Given the description of an element on the screen output the (x, y) to click on. 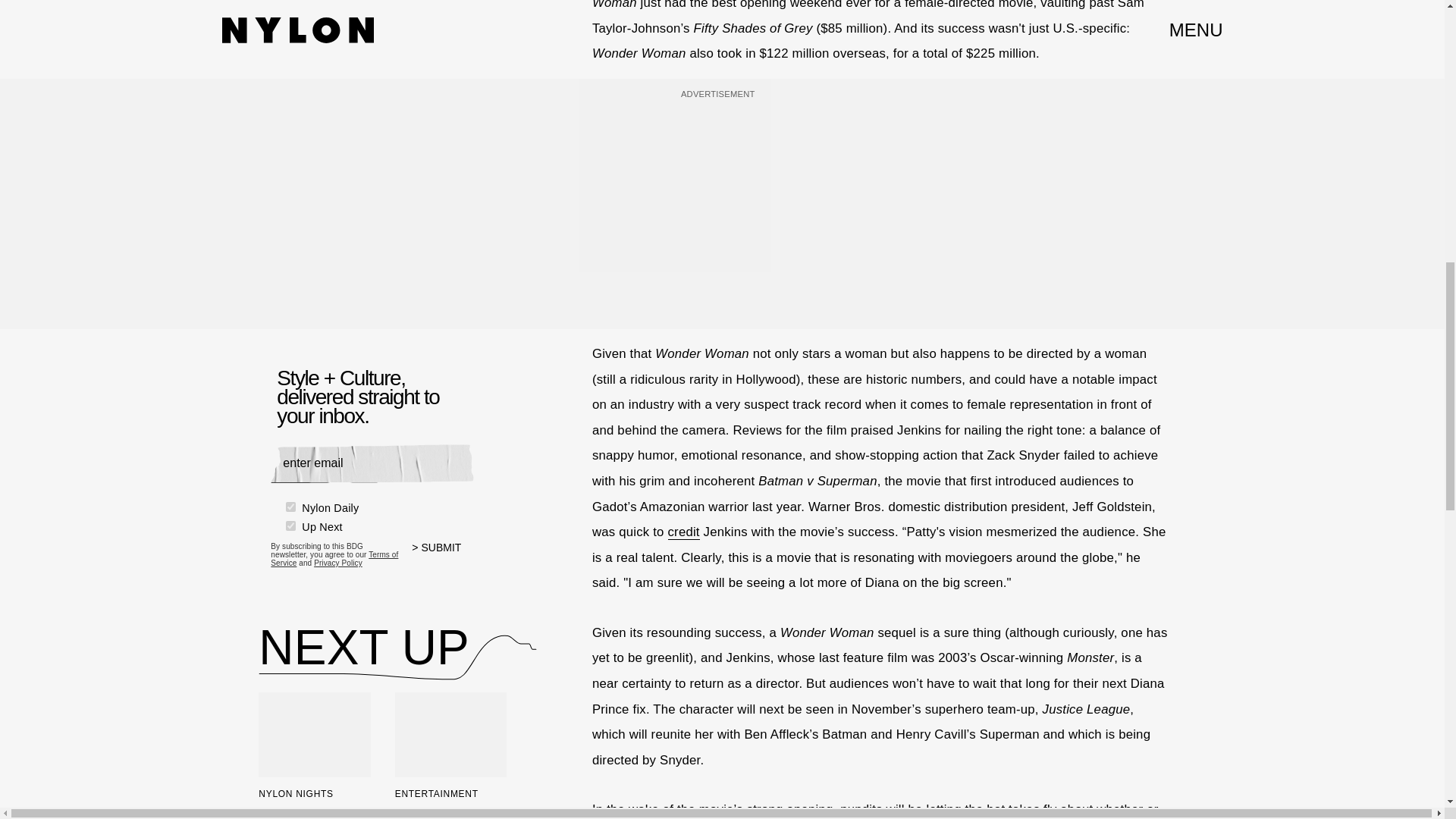
SUBMIT (443, 557)
credit (682, 531)
Terms of Service (333, 558)
Privacy Policy (338, 562)
